Given the description of an element on the screen output the (x, y) to click on. 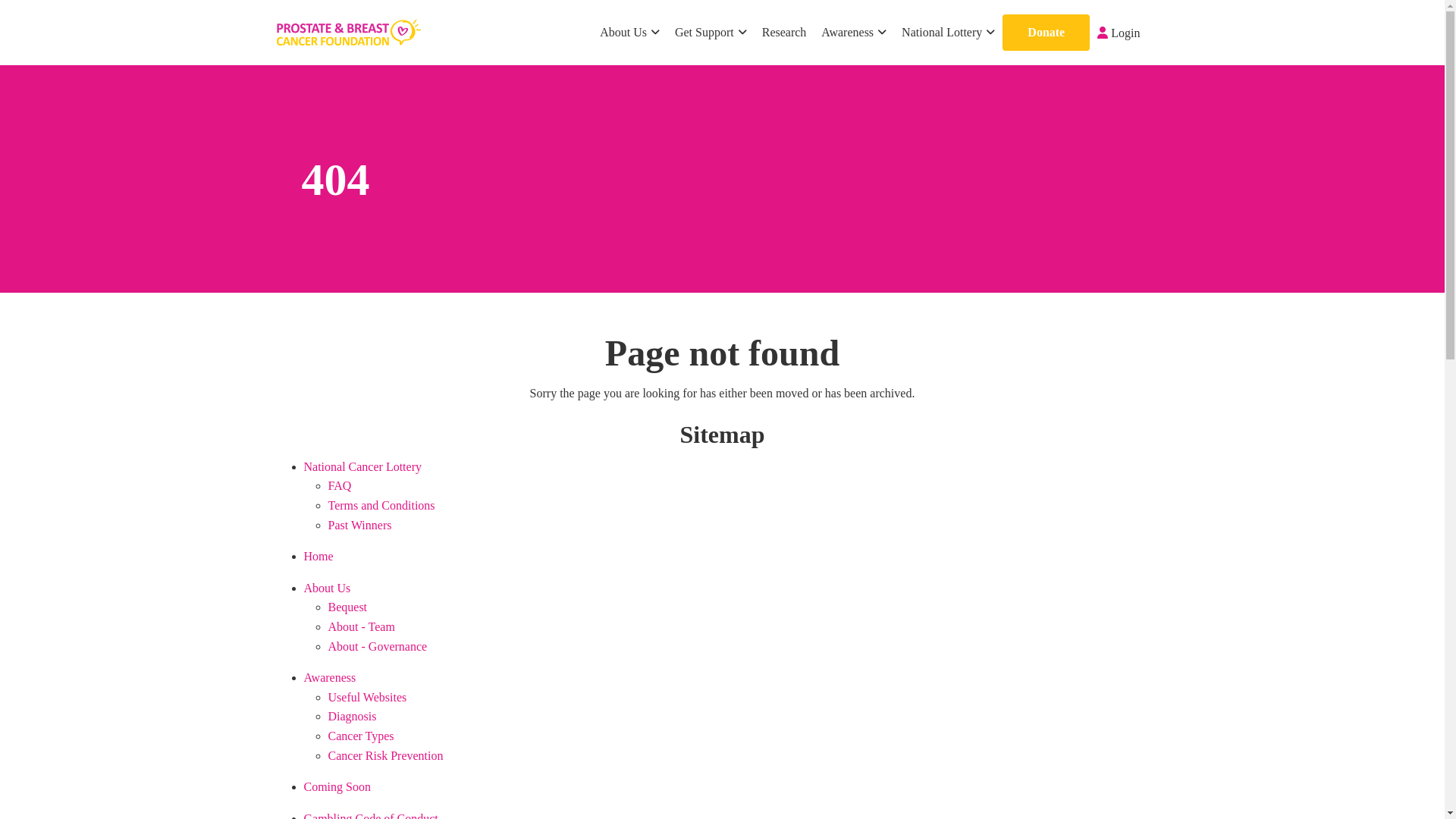
Useful Websites Element type: text (366, 696)
About Us Element type: text (629, 32)
National Lottery Element type: text (948, 32)
Past Winners Element type: text (359, 524)
National Cancer Lottery Element type: text (362, 466)
About Us Element type: text (326, 587)
Donate Element type: text (1045, 32)
FAQ Element type: text (339, 485)
Diagnosis Element type: text (351, 715)
Cancer Risk Prevention Element type: text (384, 755)
Awareness Element type: text (329, 677)
Home Element type: text (317, 555)
Login Element type: text (1118, 32)
About - Governance Element type: text (376, 646)
Research Element type: text (784, 32)
Awareness Element type: text (853, 32)
Bequest Element type: text (347, 606)
About - Team Element type: text (360, 626)
Terms and Conditions Element type: text (380, 504)
Get Support Element type: text (710, 32)
Coming Soon Element type: text (336, 786)
Cancer Types Element type: text (360, 735)
